Given the description of an element on the screen output the (x, y) to click on. 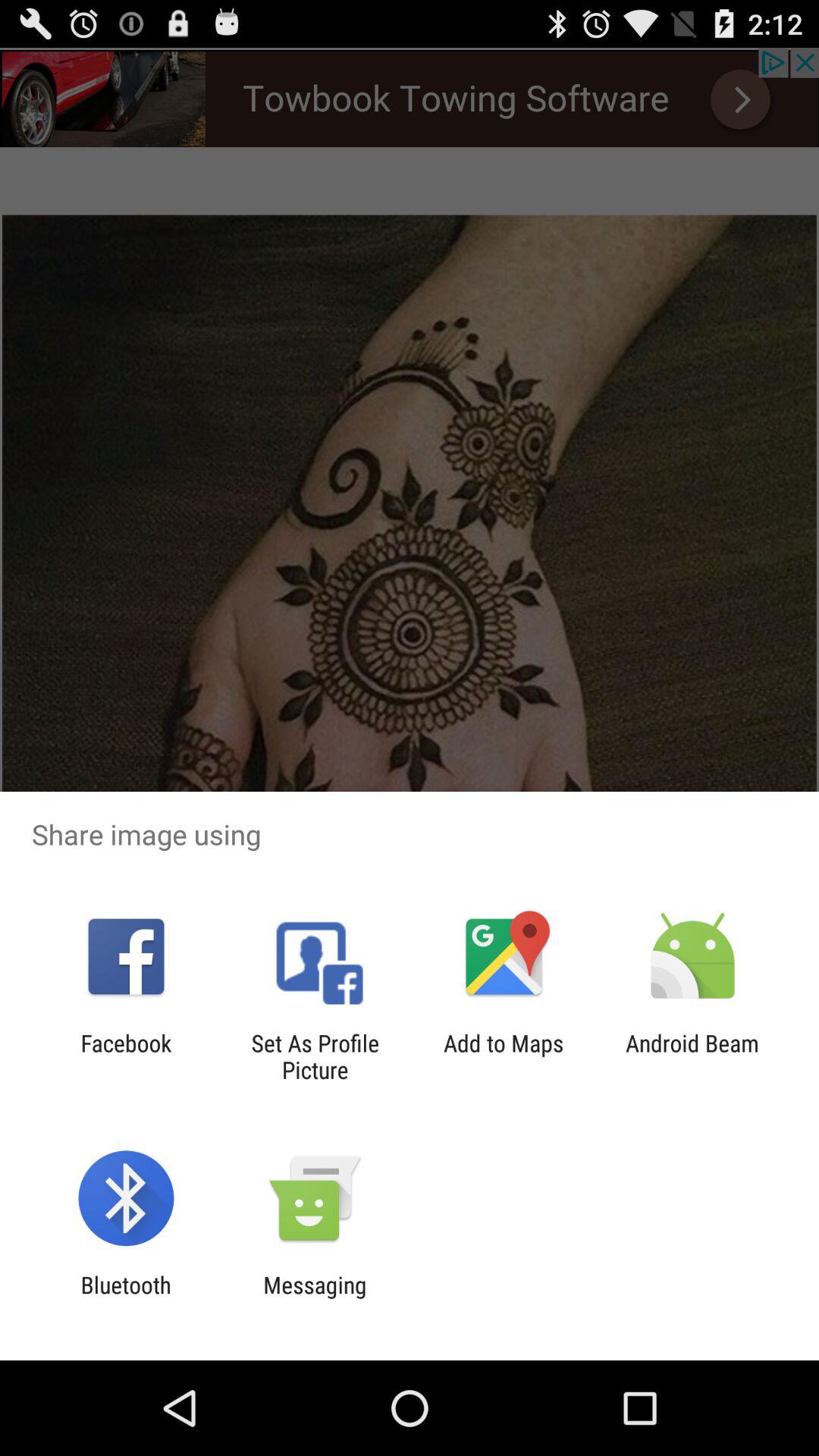
launch icon to the right of set as profile app (503, 1056)
